Given the description of an element on the screen output the (x, y) to click on. 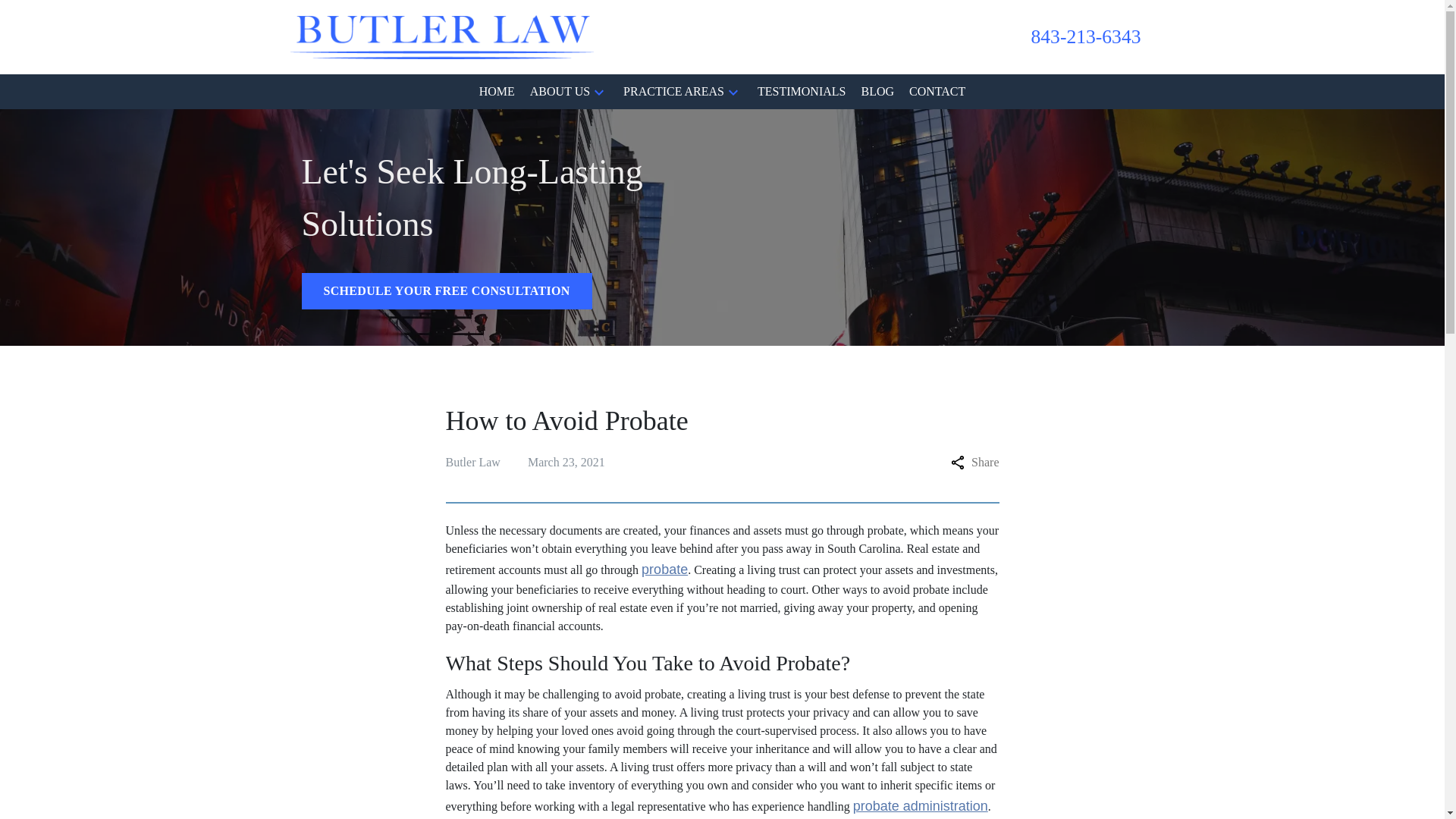
843-213-6343 (1085, 36)
probate (664, 569)
ABOUT US (559, 91)
Share (974, 462)
probate administration (920, 806)
TESTIMONIALS (801, 91)
BLOG (876, 91)
SCHEDULE YOUR FREE CONSULTATION (446, 290)
CONTACT (936, 91)
HOME (497, 91)
